Given the description of an element on the screen output the (x, y) to click on. 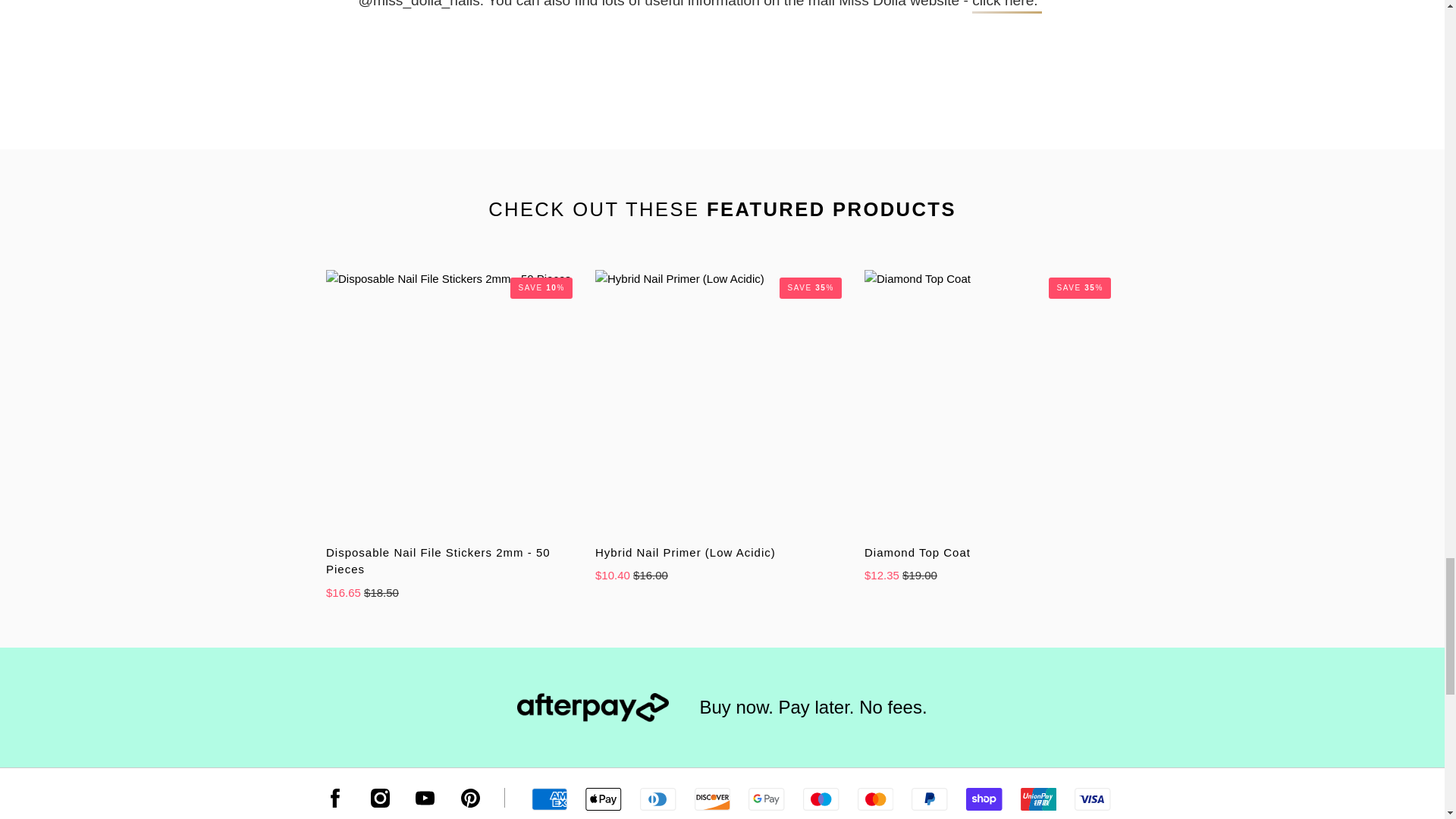
American Express (549, 798)
Apple Pay (603, 798)
Maestro (820, 798)
Shop Pay (983, 798)
Diners Club (657, 798)
PayPal (929, 798)
Discover (712, 798)
Google Pay (766, 798)
Mastercard (875, 798)
